Given the description of an element on the screen output the (x, y) to click on. 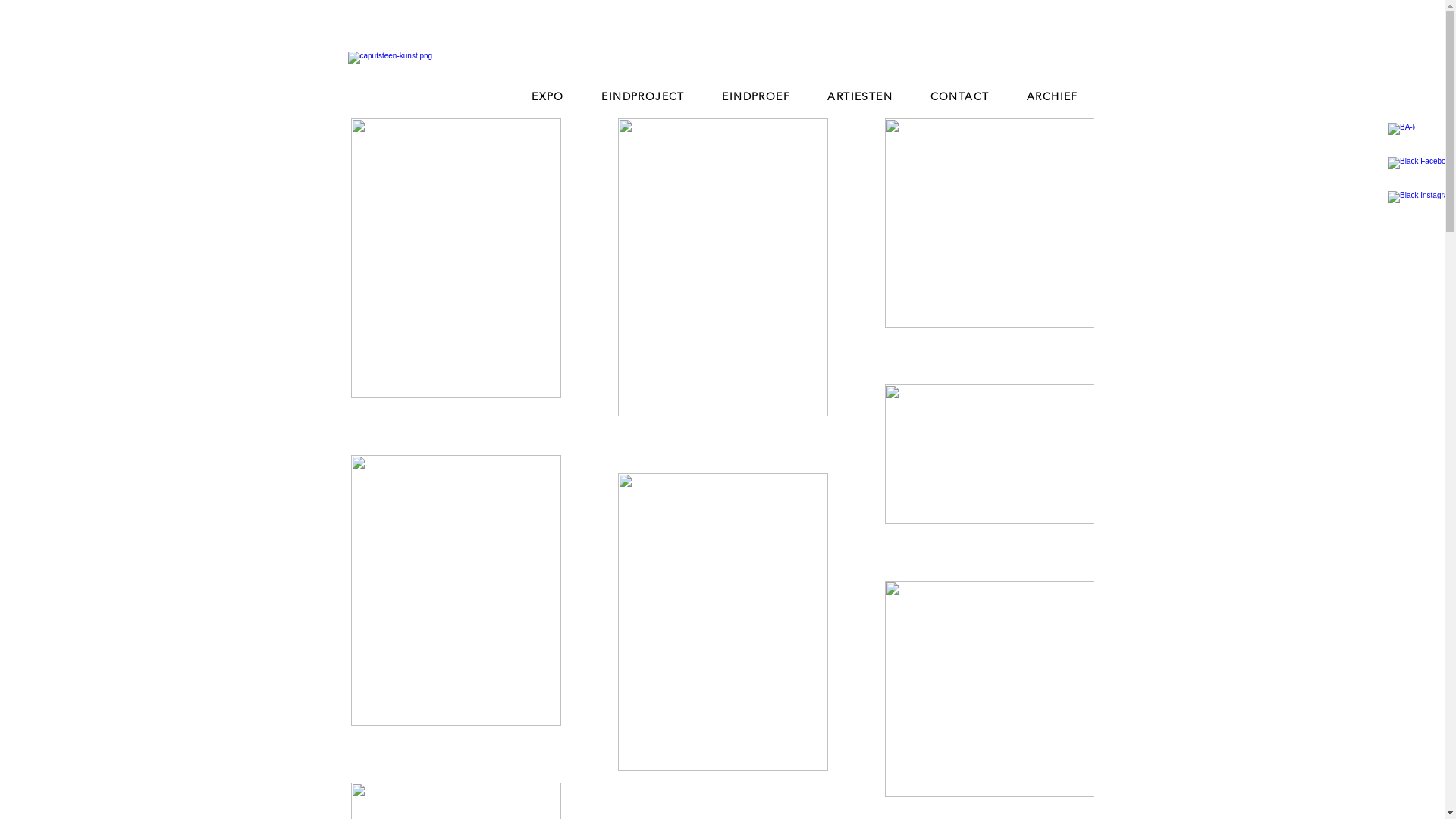
CONTACT Element type: text (959, 95)
EINDPROEF Element type: text (756, 95)
ARCHIEF Element type: text (1051, 95)
ARTIESTEN Element type: text (860, 95)
EXPO Element type: text (547, 95)
EINDPROJECT Element type: text (643, 95)
